Given the description of an element on the screen output the (x, y) to click on. 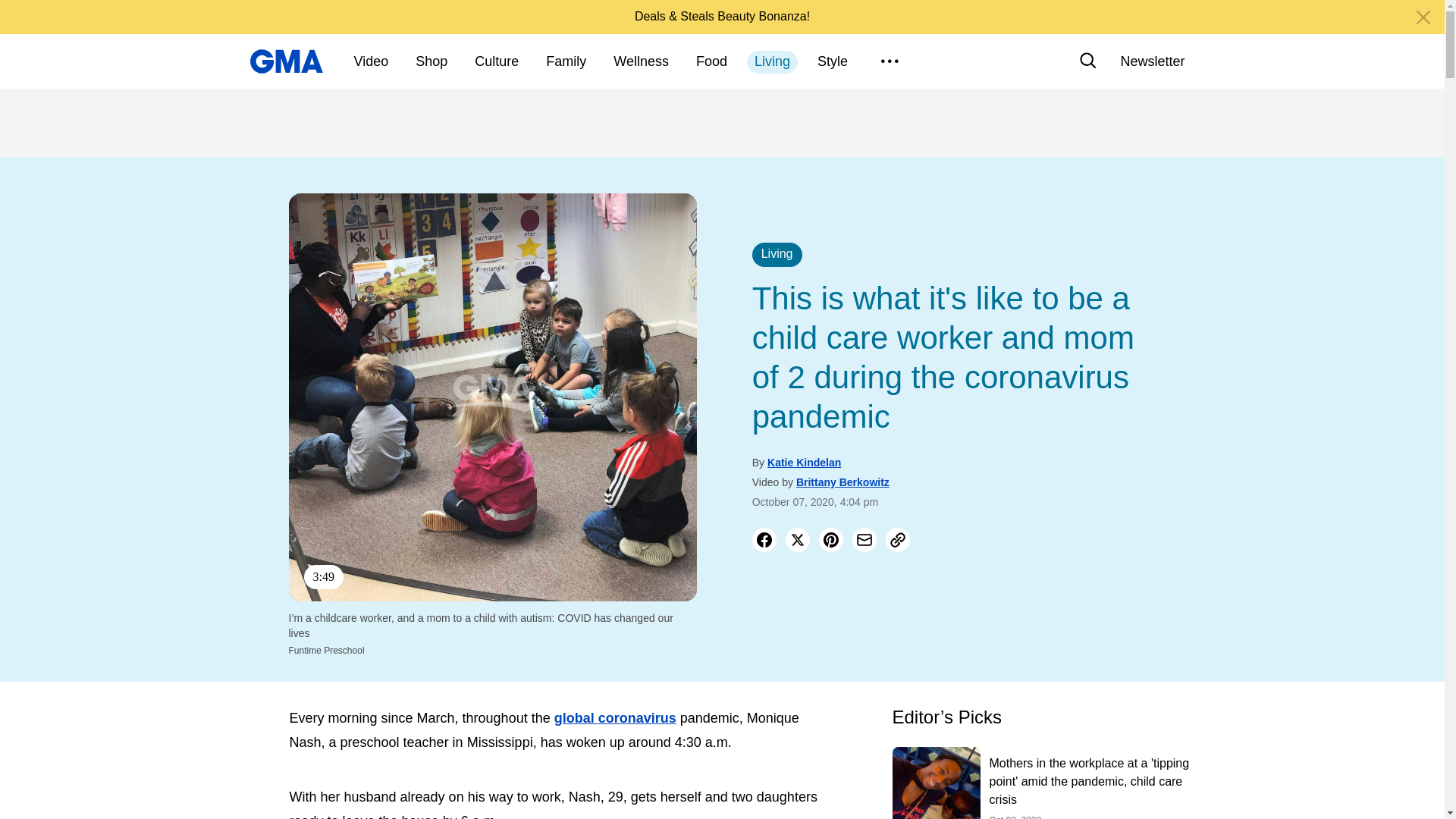
Brittany Berkowitz (842, 481)
Wellness (641, 61)
Search (1087, 60)
Living (771, 61)
Video (371, 61)
global (576, 717)
Shop (430, 61)
Style (832, 61)
Living (777, 254)
Newsletter (1152, 61)
coronavirus (637, 717)
Culture (496, 61)
Katie Kindelan (804, 462)
Food (711, 61)
Family (566, 61)
